Given the description of an element on the screen output the (x, y) to click on. 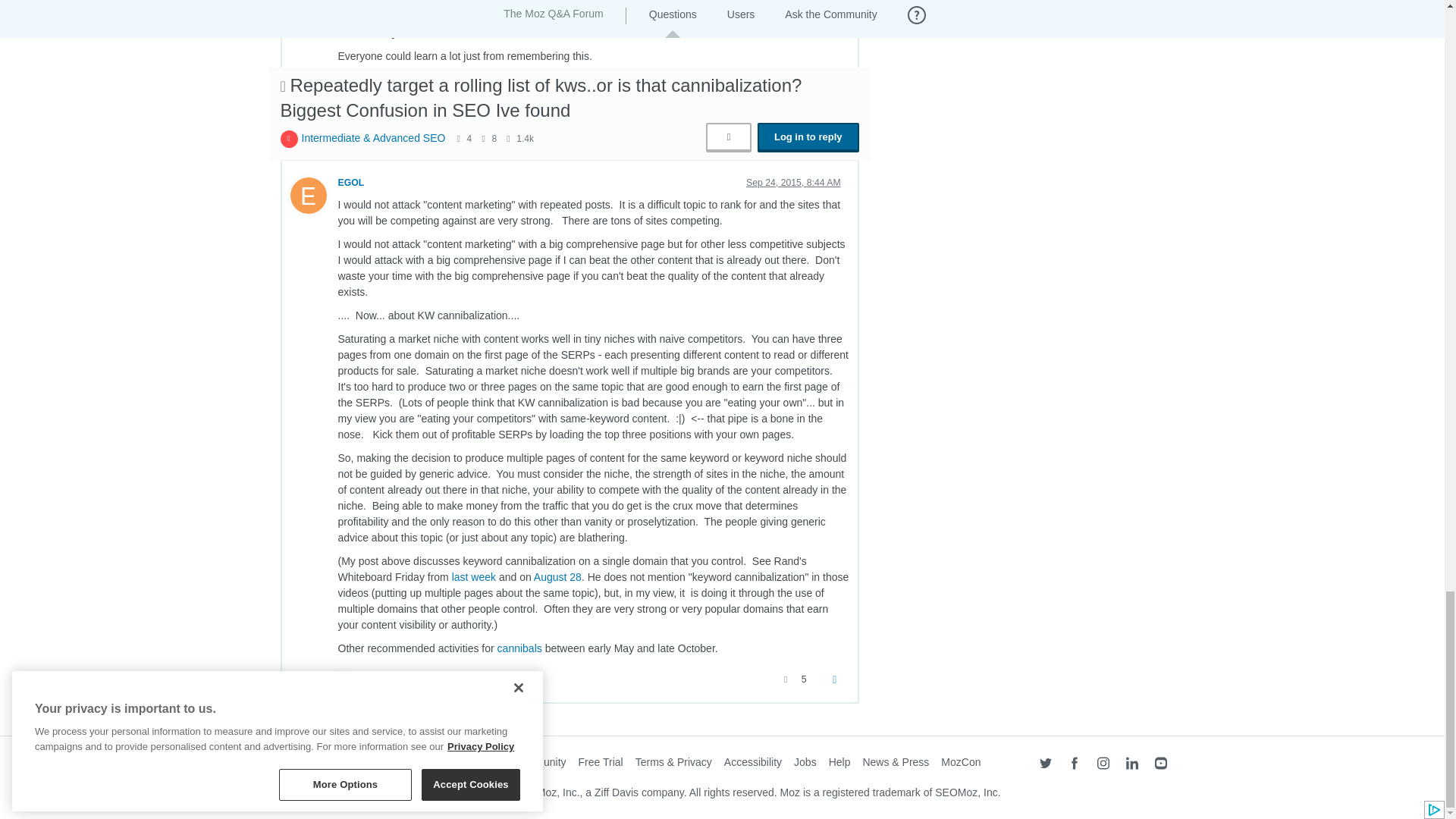
Moz logo (303, 765)
